Given the description of an element on the screen output the (x, y) to click on. 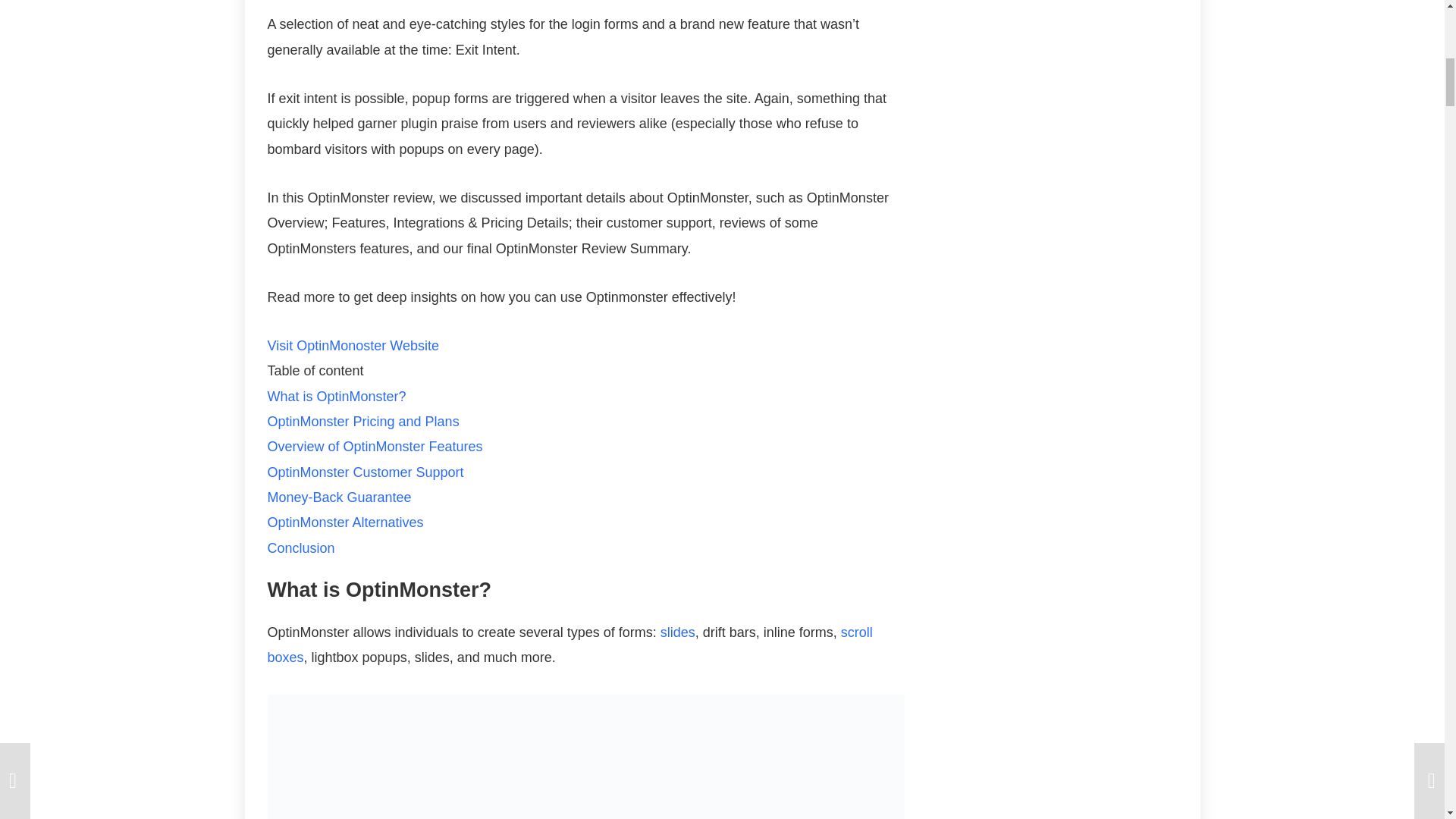
OptinMonster Pricing and Plans (362, 421)
OptinMonster Customer Support (364, 472)
Visit OptinMonoster Website (352, 345)
Overview of OptinMonster Features (373, 446)
Conclusion (300, 548)
What is OptinMonster? (336, 396)
OptinMonster Alternatives (344, 522)
Money-Back Guarantee (338, 497)
scroll boxes (569, 644)
slides (678, 631)
